Given the description of an element on the screen output the (x, y) to click on. 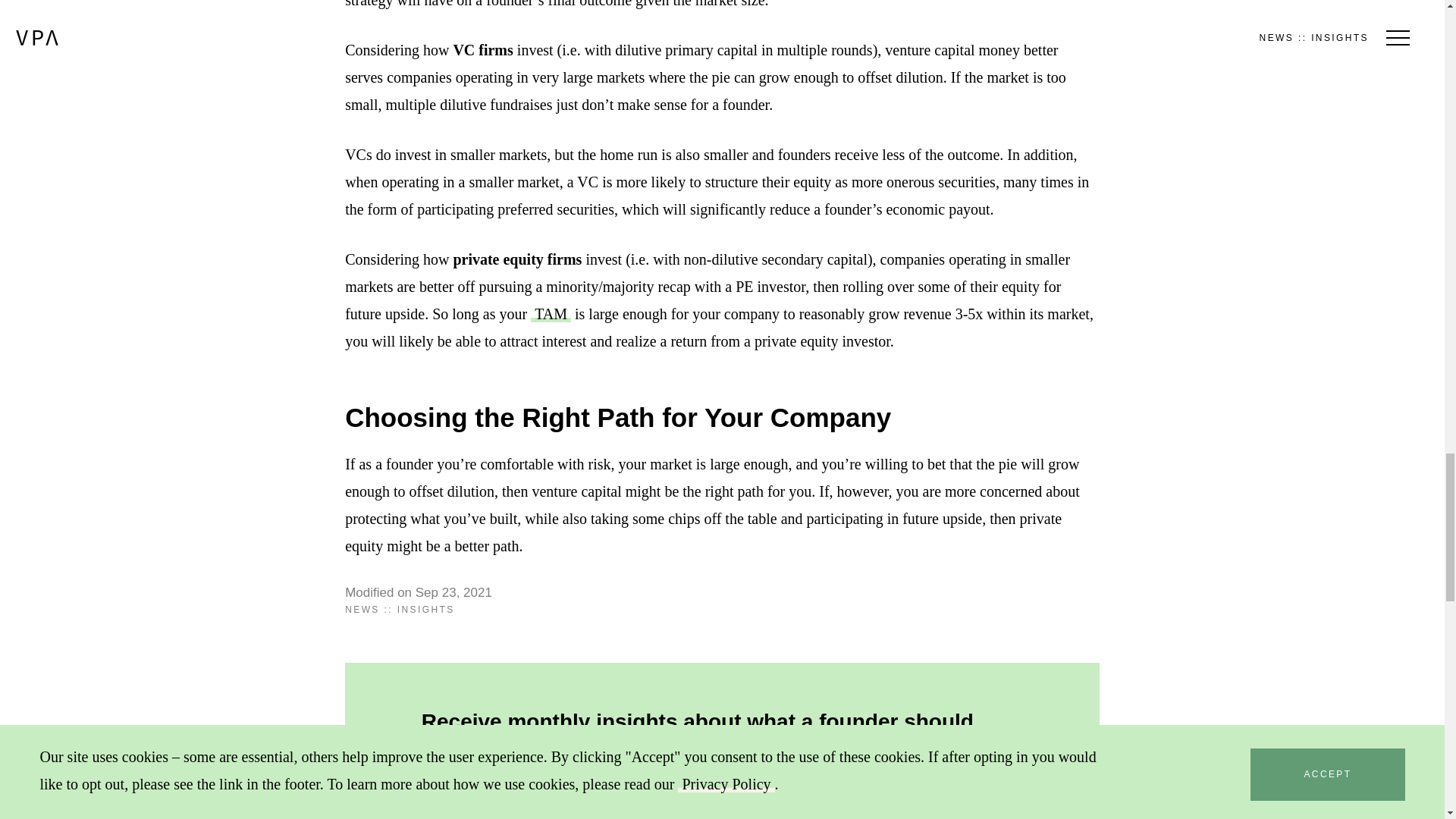
TAM (550, 313)
NEWS (362, 609)
INSIGHTS (425, 609)
SUBMIT (946, 806)
